Given the description of an element on the screen output the (x, y) to click on. 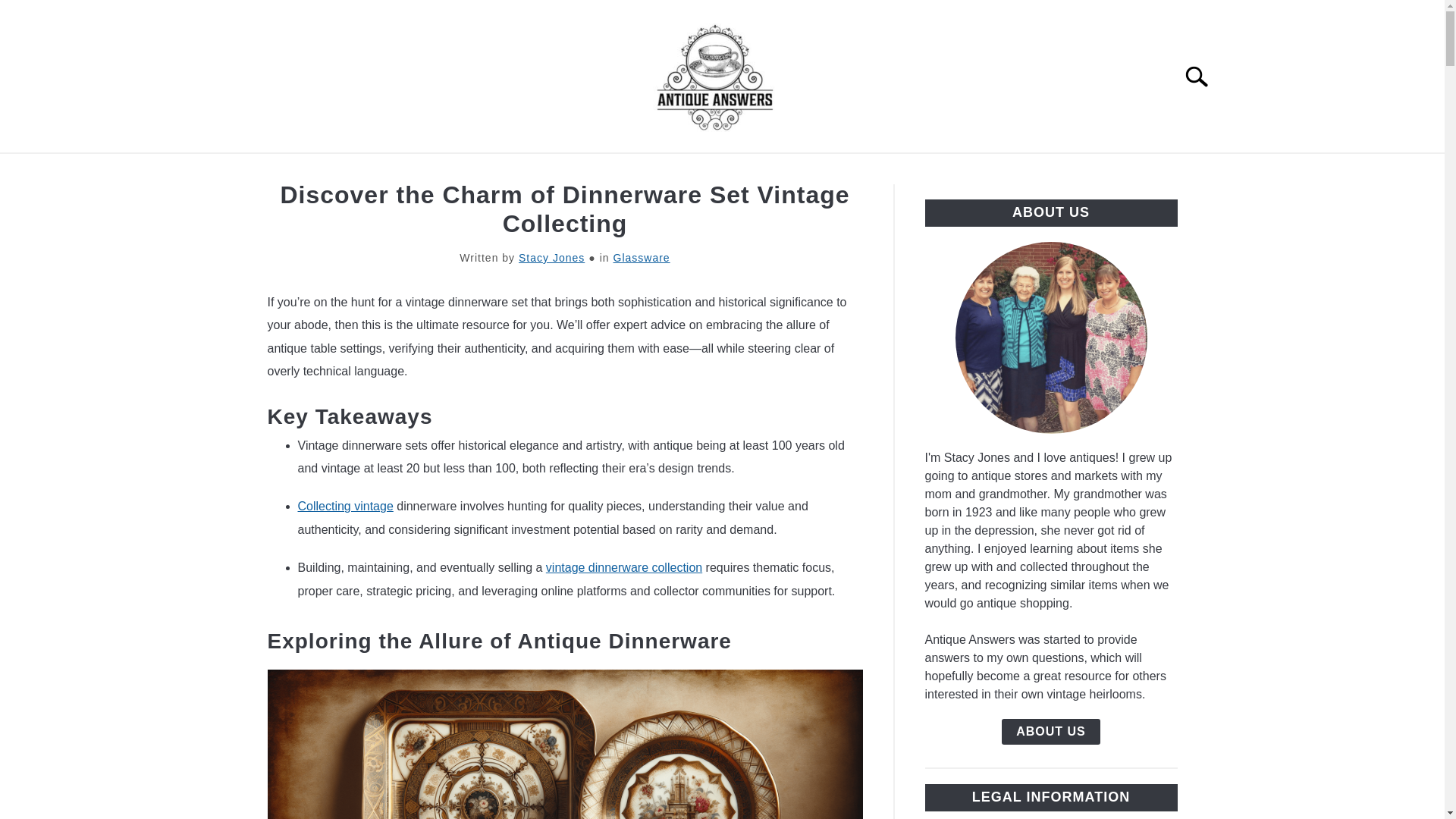
Stacy Jones (551, 257)
vintage dinnerware collection (623, 567)
VARIOUS (1017, 171)
Glassware (640, 257)
GRANDFATHER CLOCKS (873, 171)
CHINA, PORCELAIN, AND CERAMICS (638, 171)
GLASSWARE (439, 171)
Collecting vintage (345, 505)
Search (1203, 76)
